Given the description of an element on the screen output the (x, y) to click on. 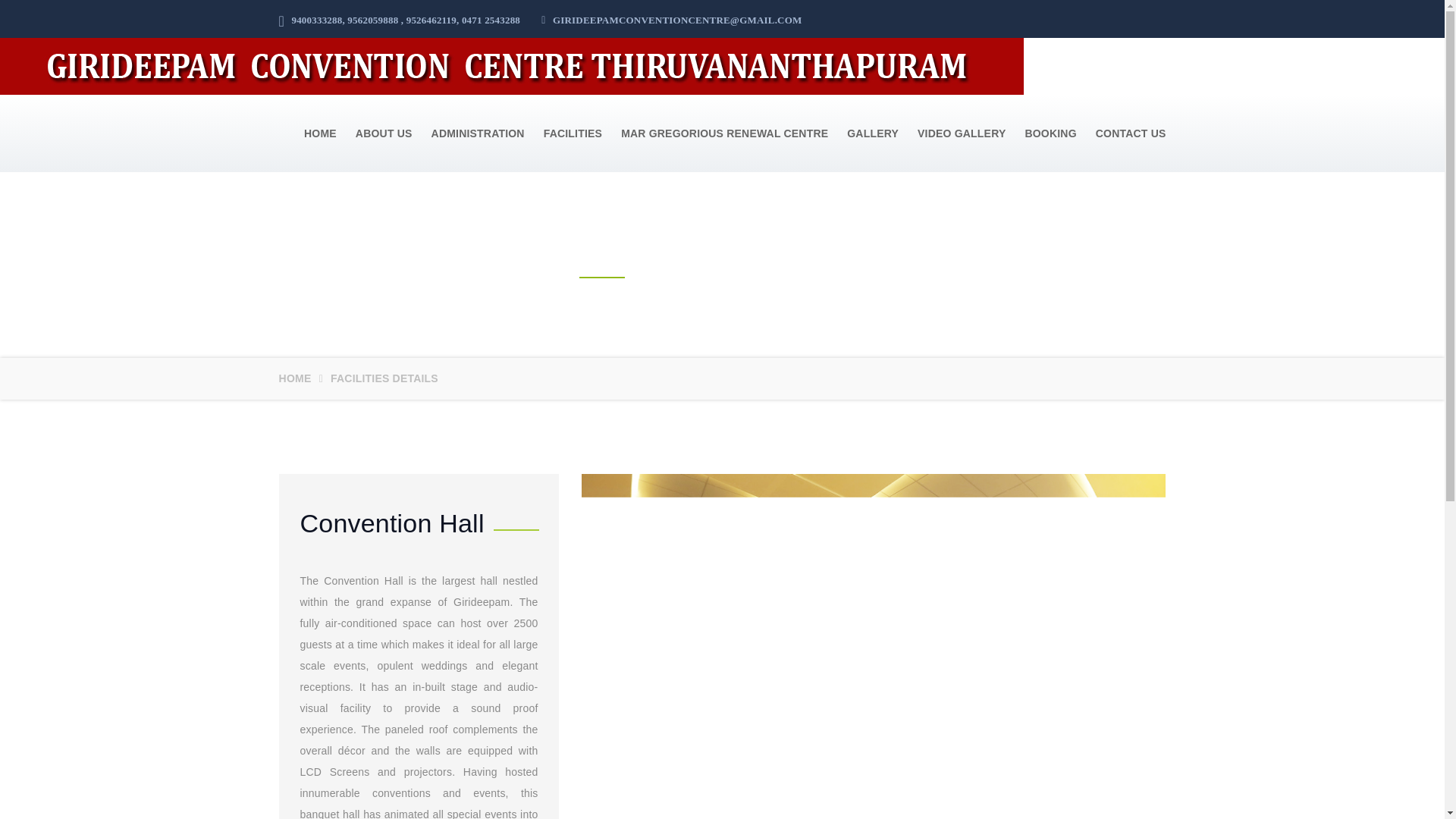
CONTACT US (1121, 133)
ABOUT US (374, 133)
HOME (295, 378)
ADMINISTRATION (468, 133)
BOOKING (1040, 133)
MAR GREGORIOUS RENEWAL CENTRE (715, 133)
9400333288, 9562059888 , 9526462119, 0471 2543288 (400, 19)
FACILITIES (563, 133)
VIDEO GALLERY (952, 133)
GALLERY (863, 133)
